Given the description of an element on the screen output the (x, y) to click on. 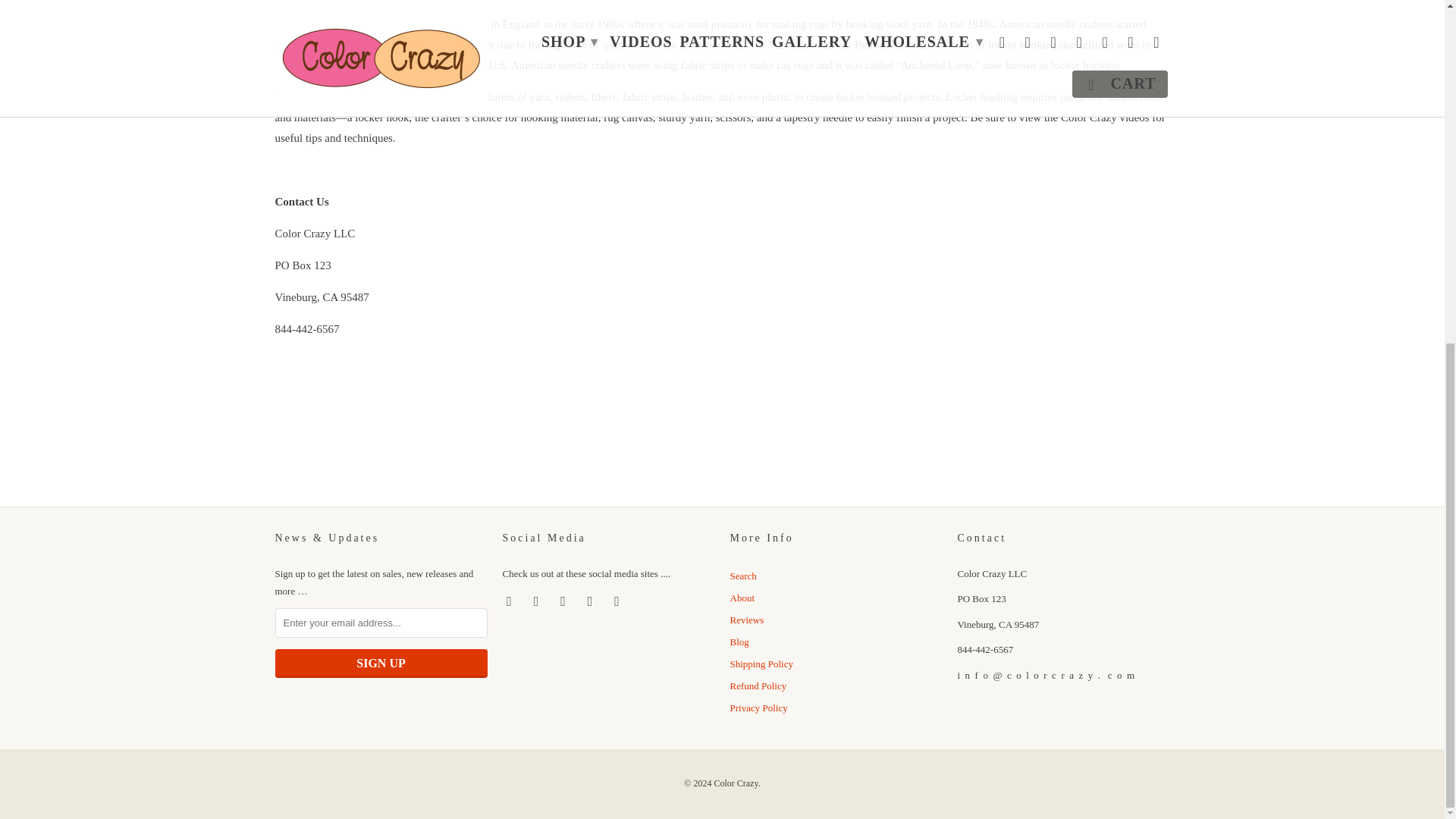
Blog (738, 641)
Sign Up (380, 663)
Color Crazy on Facebook (510, 600)
Privacy Policy (758, 707)
Shipping Policy (760, 663)
Color Crazy on YouTube (537, 600)
Email Color Crazy (618, 600)
Color Crazy on Pinterest (564, 600)
Reviews (745, 619)
Sign Up (380, 663)
Refund Policy (757, 685)
Search (742, 575)
About (741, 597)
Color Crazy on Instagram (591, 600)
